Given the description of an element on the screen output the (x, y) to click on. 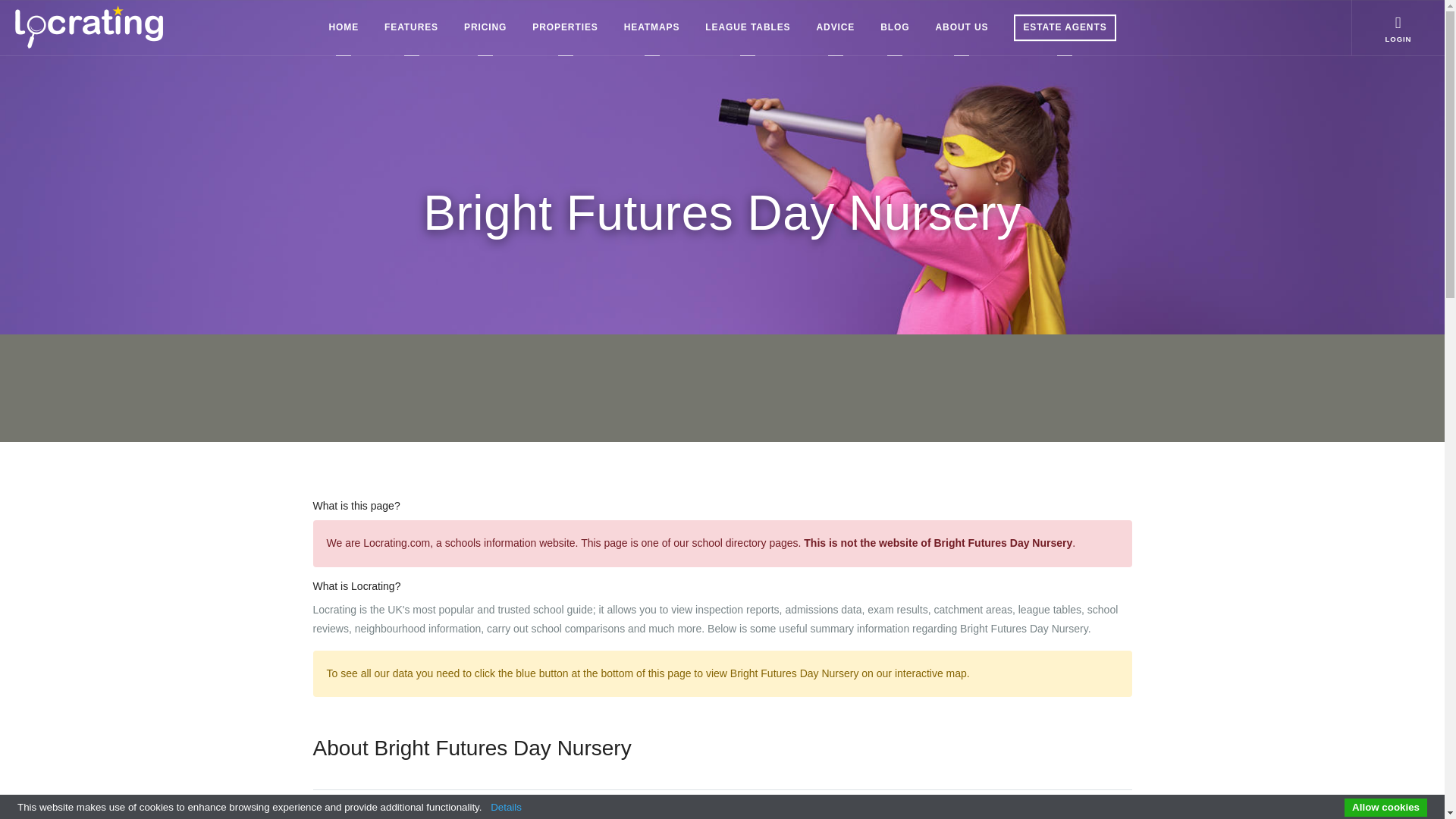
LEAGUE TABLES (747, 27)
PRICING (485, 27)
HEATMAPS (651, 27)
ADVICE (835, 27)
ABOUT US (962, 27)
FEATURES (411, 27)
BLOG (894, 27)
ESTATE AGENTS (1065, 27)
LOGIN (1397, 27)
HOME (343, 27)
PROPERTIES (564, 27)
